Given the description of an element on the screen output the (x, y) to click on. 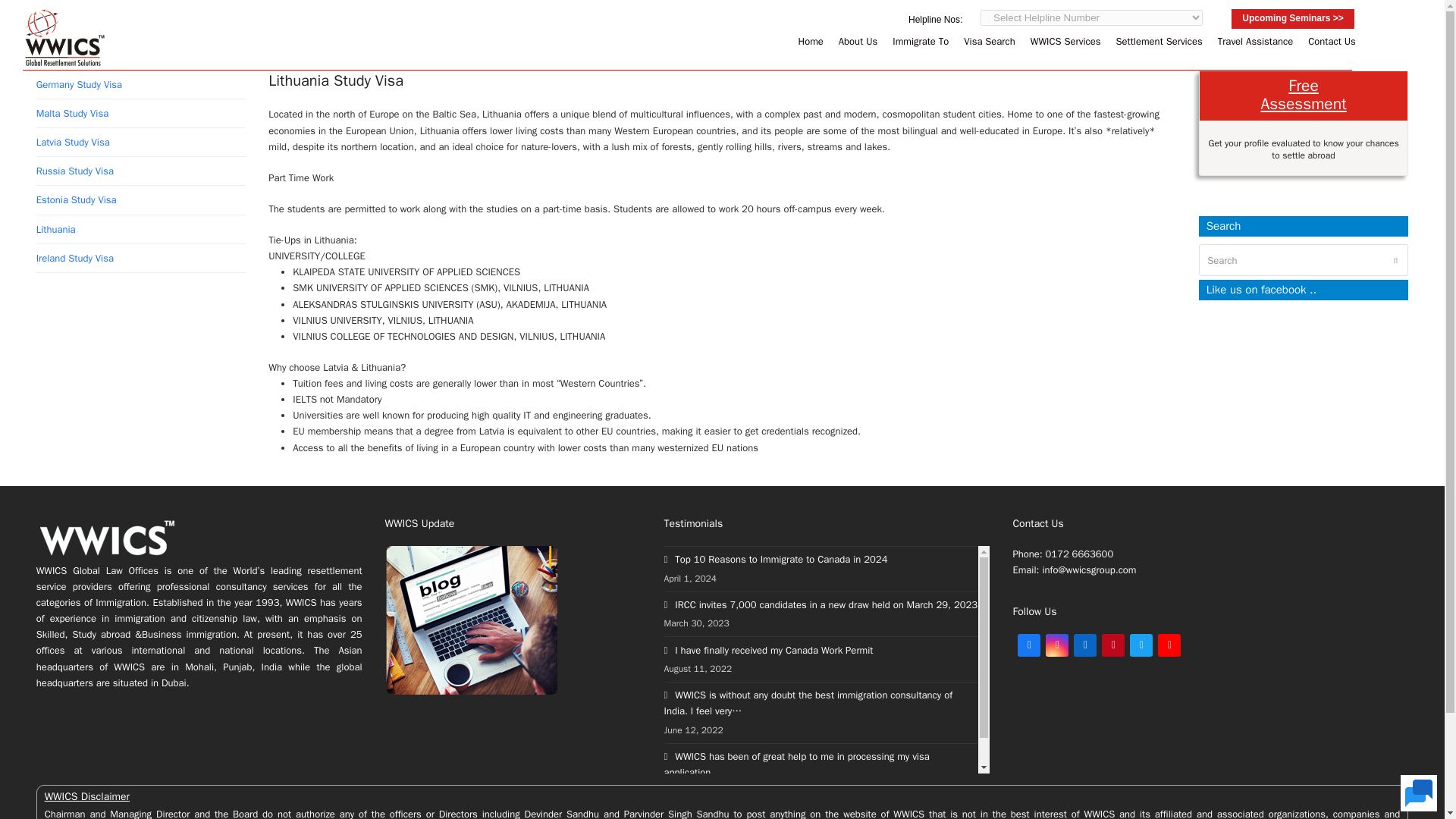
WWICS Services (1065, 40)
Instagram (1056, 644)
Immigrate To (920, 40)
Visa Search (989, 40)
Facebook (1029, 644)
LinkedIn (1085, 644)
Home (810, 40)
Twitter (1141, 644)
fb:page Facebook Social Plugin (1303, 376)
Total Homepage (107, 554)
